Given the description of an element on the screen output the (x, y) to click on. 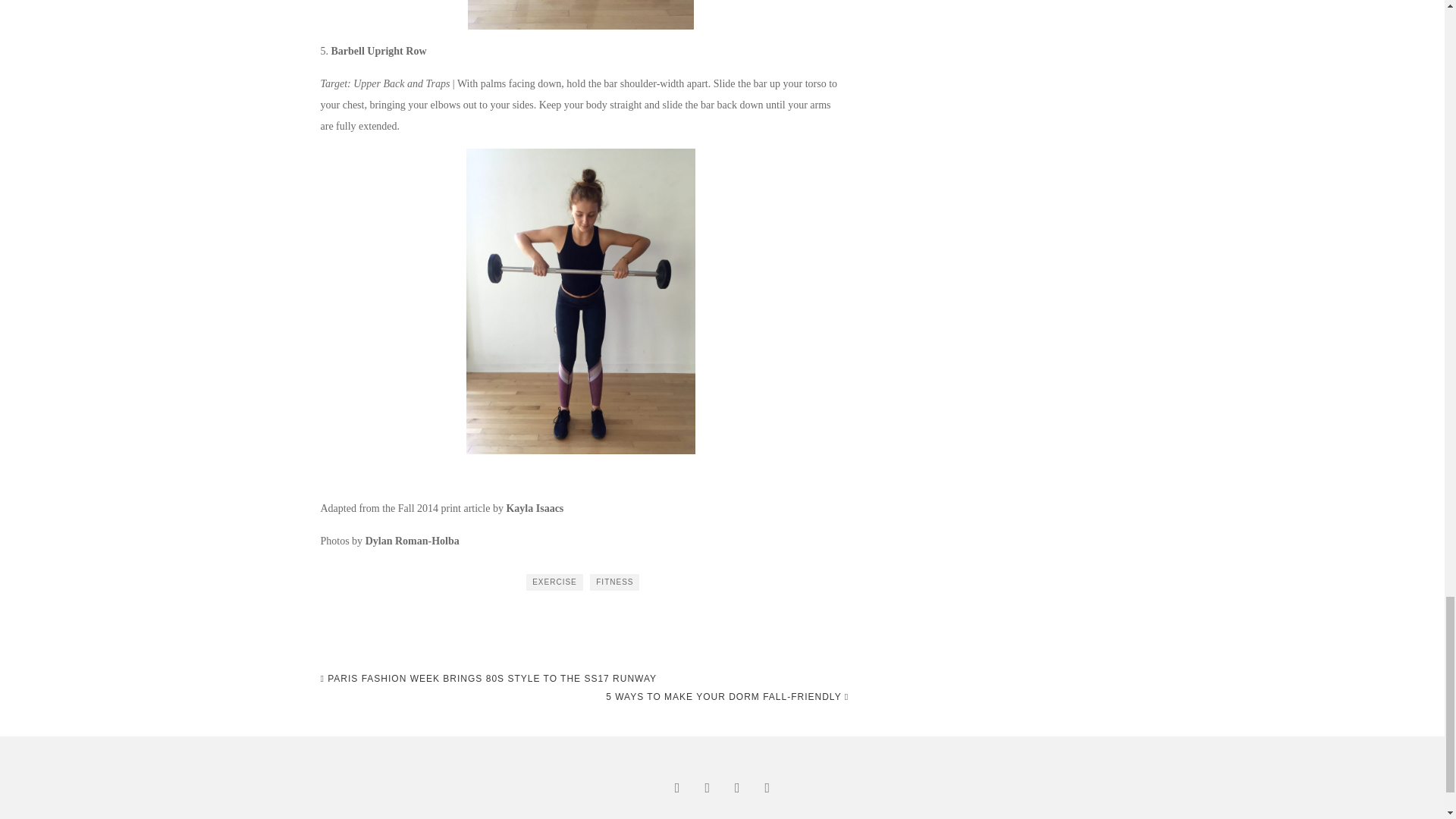
PARIS FASHION WEEK BRINGS 80S STYLE TO THE SS17 RUNWAY (488, 678)
FITNESS (614, 582)
EXERCISE (554, 582)
5 WAYS TO MAKE YOUR DORM FALL-FRIENDLY (726, 696)
